Given the description of an element on the screen output the (x, y) to click on. 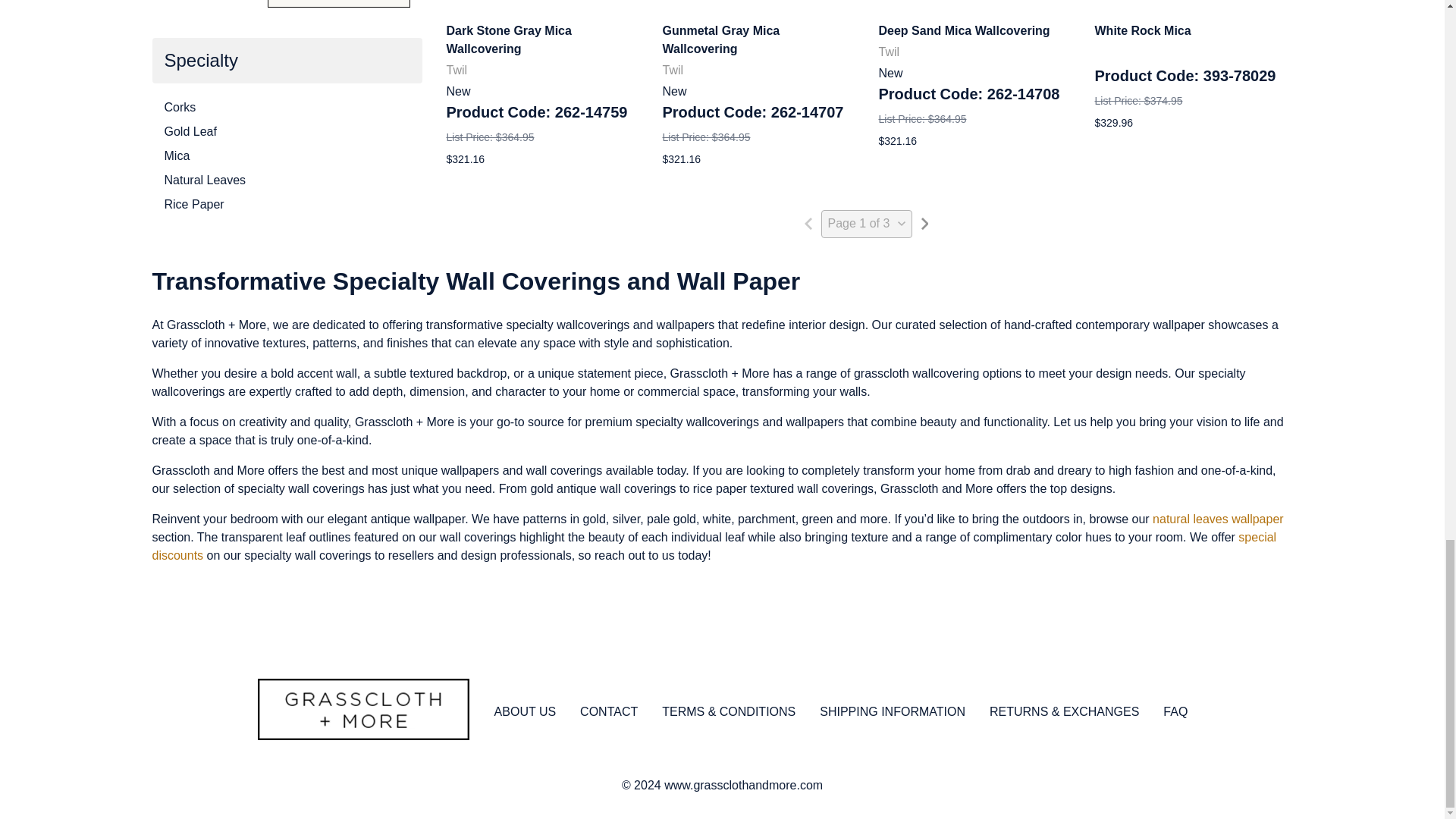
Load previous page (807, 223)
Gunmetal Gray Mica Wallcovering (758, 6)
Deep Sand Mica Wallcovering (973, 6)
White Rock Mica (1190, 6)
Load next page (924, 223)
Dark Stone Gray Mica Wallcovering (541, 6)
